Given the description of an element on the screen output the (x, y) to click on. 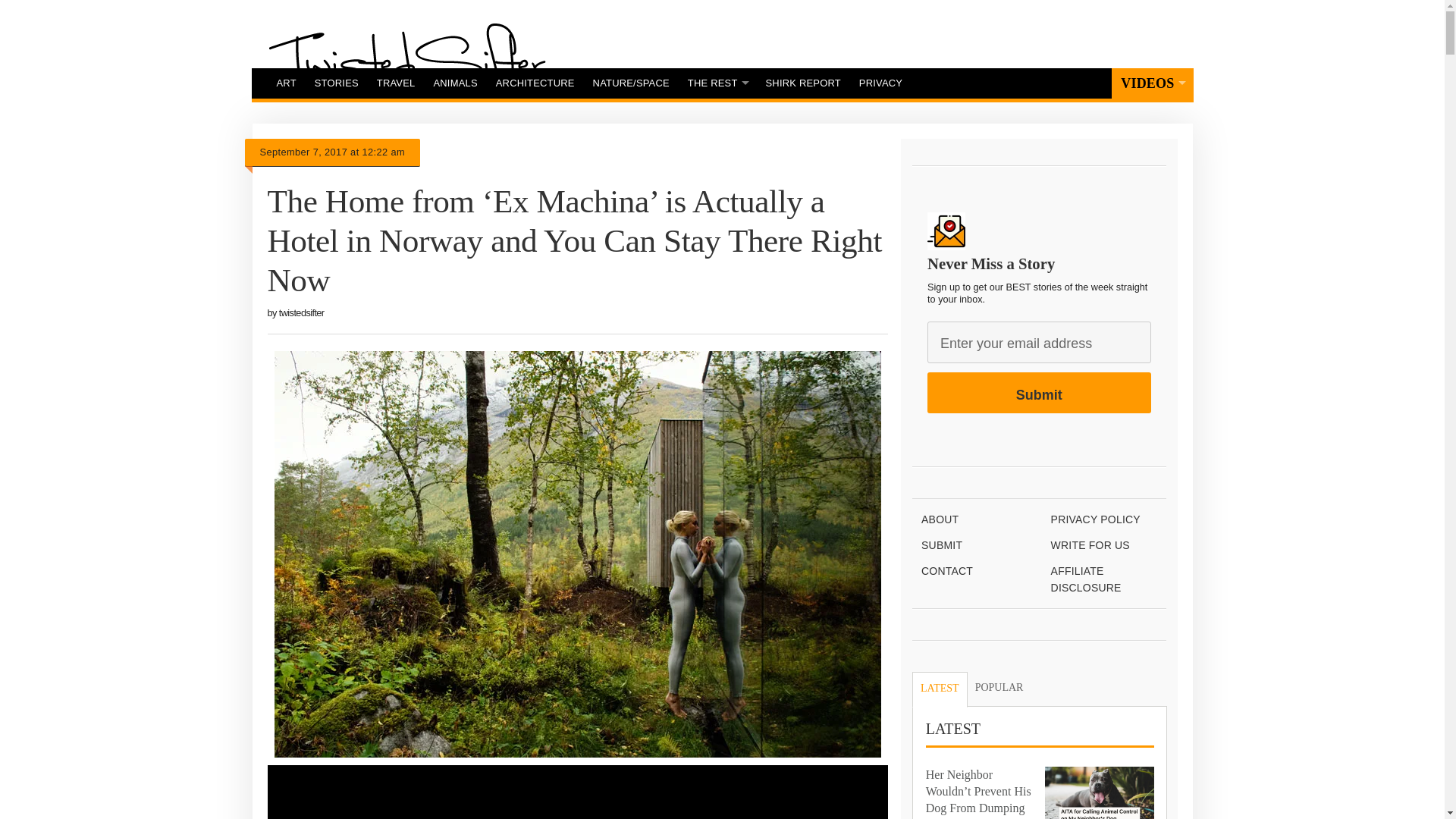
Submit (1038, 392)
TRAVEL (396, 82)
Home (406, 59)
ARCHITECTURE (534, 82)
VIDEOS (1152, 82)
ART (285, 82)
ANIMALS (454, 82)
PRIVACY (880, 82)
STORIES (336, 82)
SHIRK REPORT (803, 82)
THE REST (717, 82)
